Given the description of an element on the screen output the (x, y) to click on. 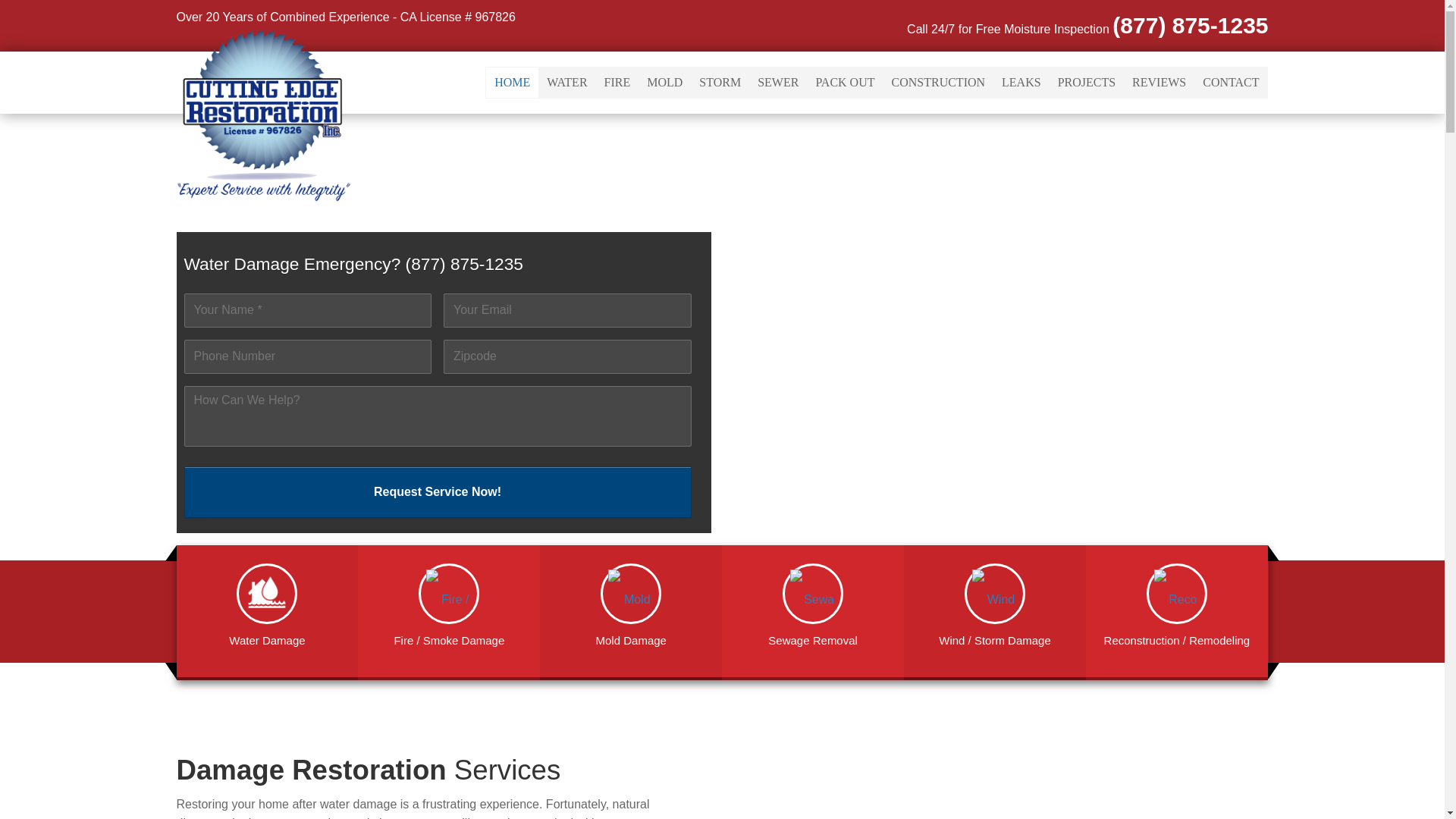
CONTACT (1229, 82)
WATER (566, 82)
Water Damage (267, 606)
PACK OUT (844, 82)
Mold Damage (631, 606)
Sewage Removal (813, 606)
Request Service Now! (436, 491)
Cutting Edge Restoration (263, 114)
SEWER (777, 82)
PROJECTS (1086, 82)
